Given the description of an element on the screen output the (x, y) to click on. 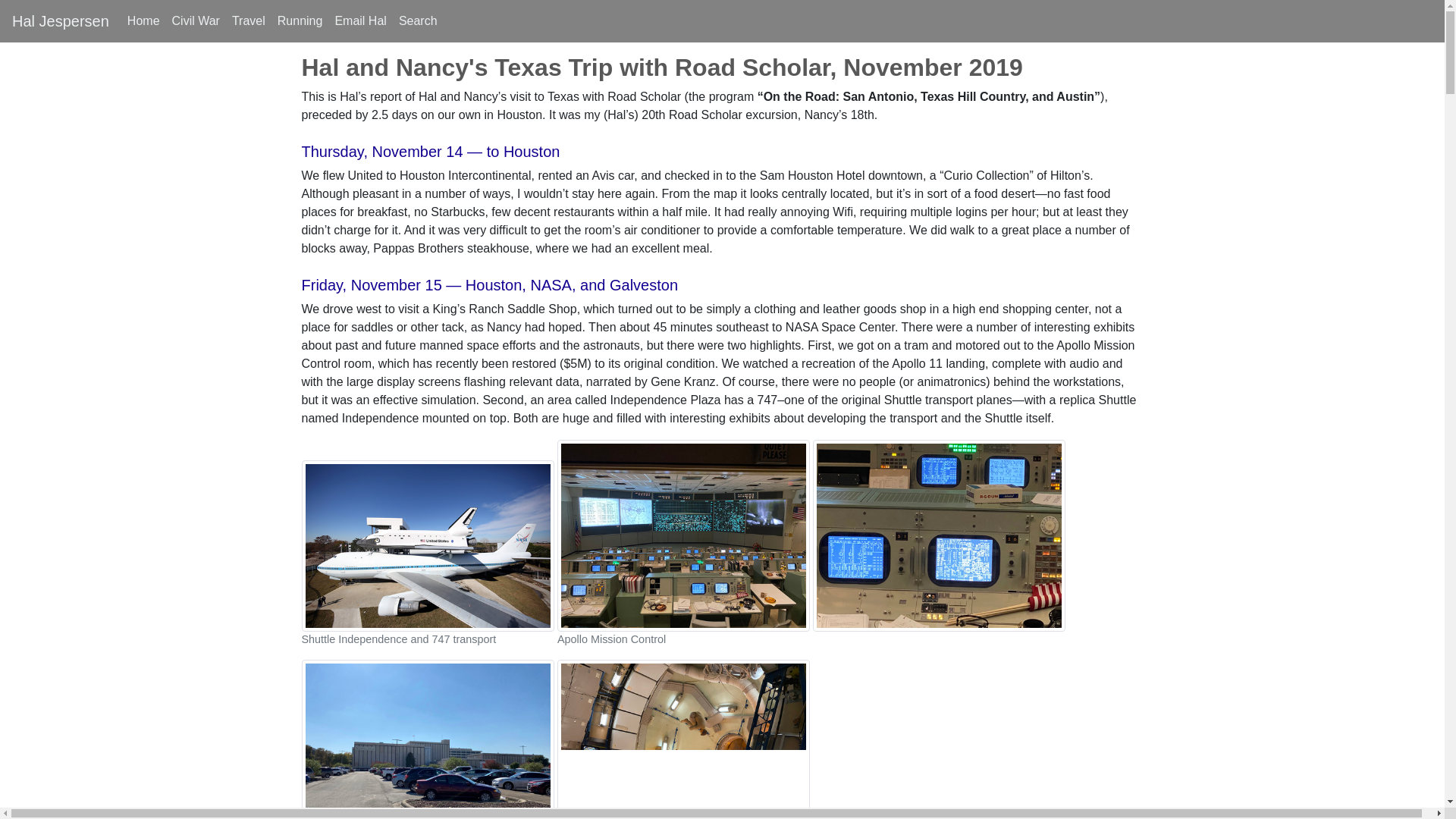
Hal Jespersen (60, 20)
Home (142, 20)
Running (299, 20)
Email Hal (360, 20)
Search (418, 20)
Civil War (195, 20)
